Given the description of an element on the screen output the (x, y) to click on. 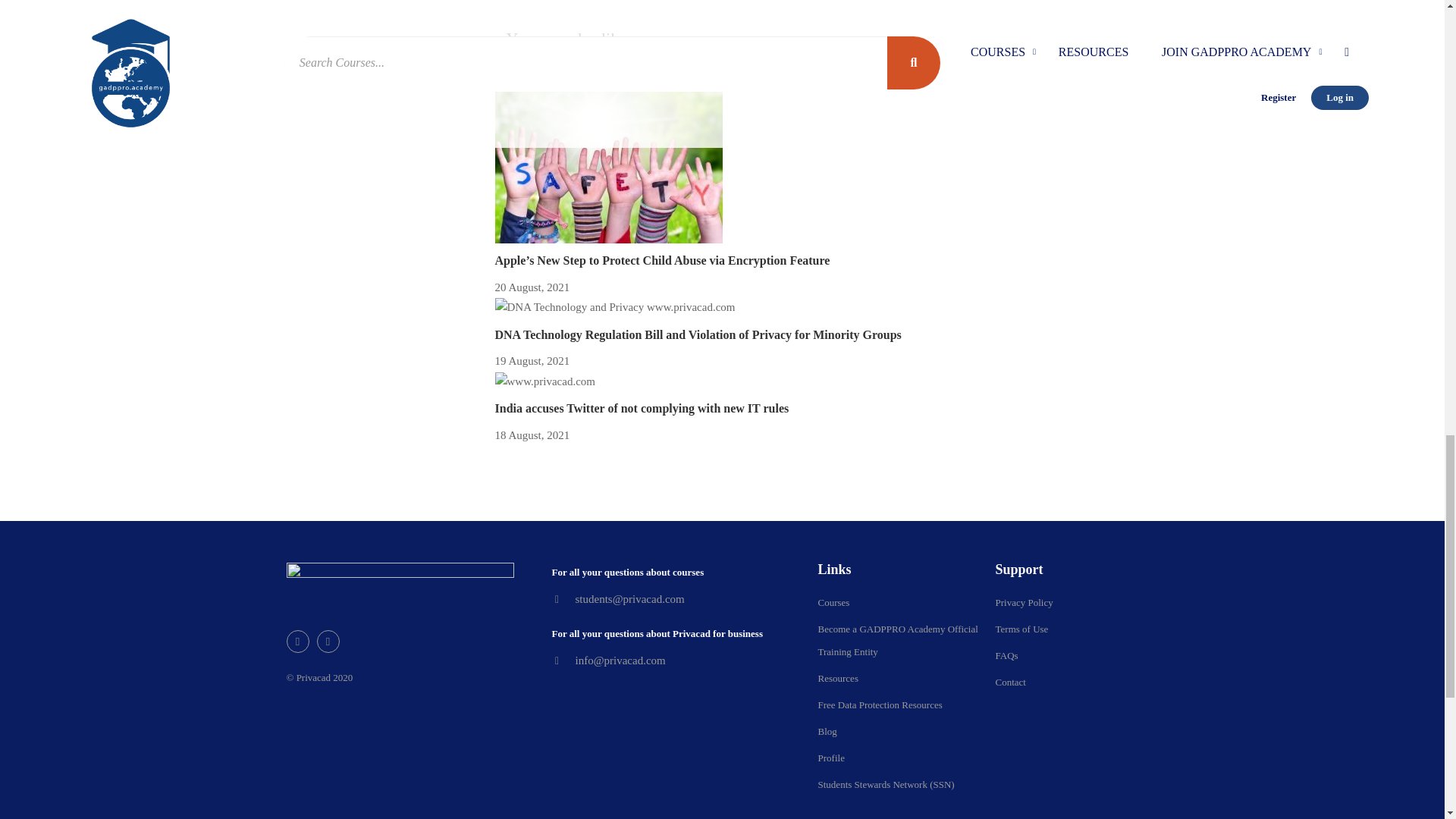
India accuses Twitter of not complying with new IT rules (642, 408)
www.privacad.com (544, 382)
Children Safety Encryption www.privacad.com (608, 167)
DNA Technology and Privacy www.privacad.com (615, 307)
